Given the description of an element on the screen output the (x, y) to click on. 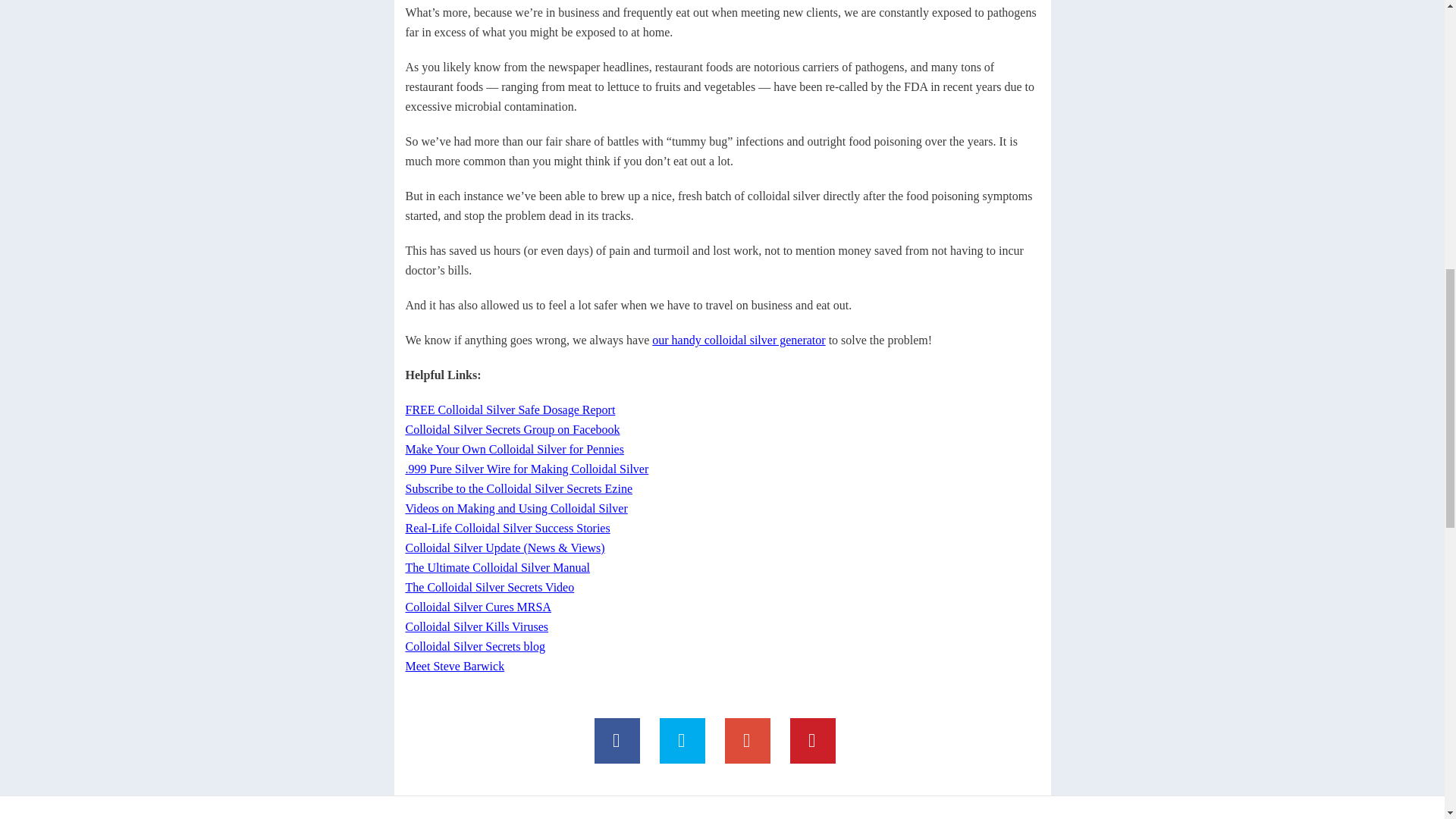
FREE Colloidal Silver Safe Dosage Report (509, 409)
Colloidal Silver Secrets Group on Facebook (512, 429)
our handy colloidal silver generator (738, 339)
Make Your Own Colloidal Silver for Pennies (513, 449)
